Given the description of an element on the screen output the (x, y) to click on. 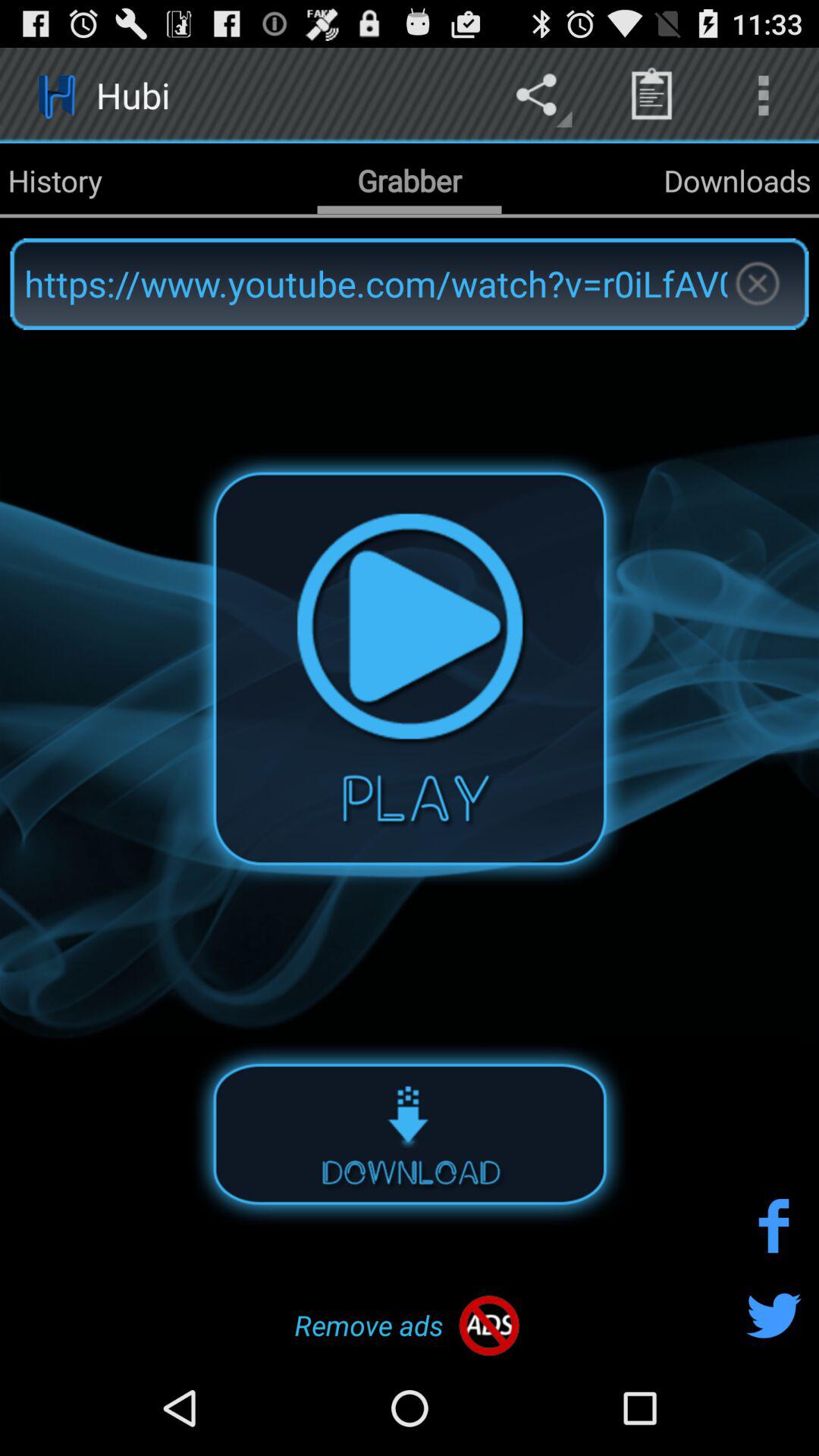
select the audio play (409, 667)
